Given the description of an element on the screen output the (x, y) to click on. 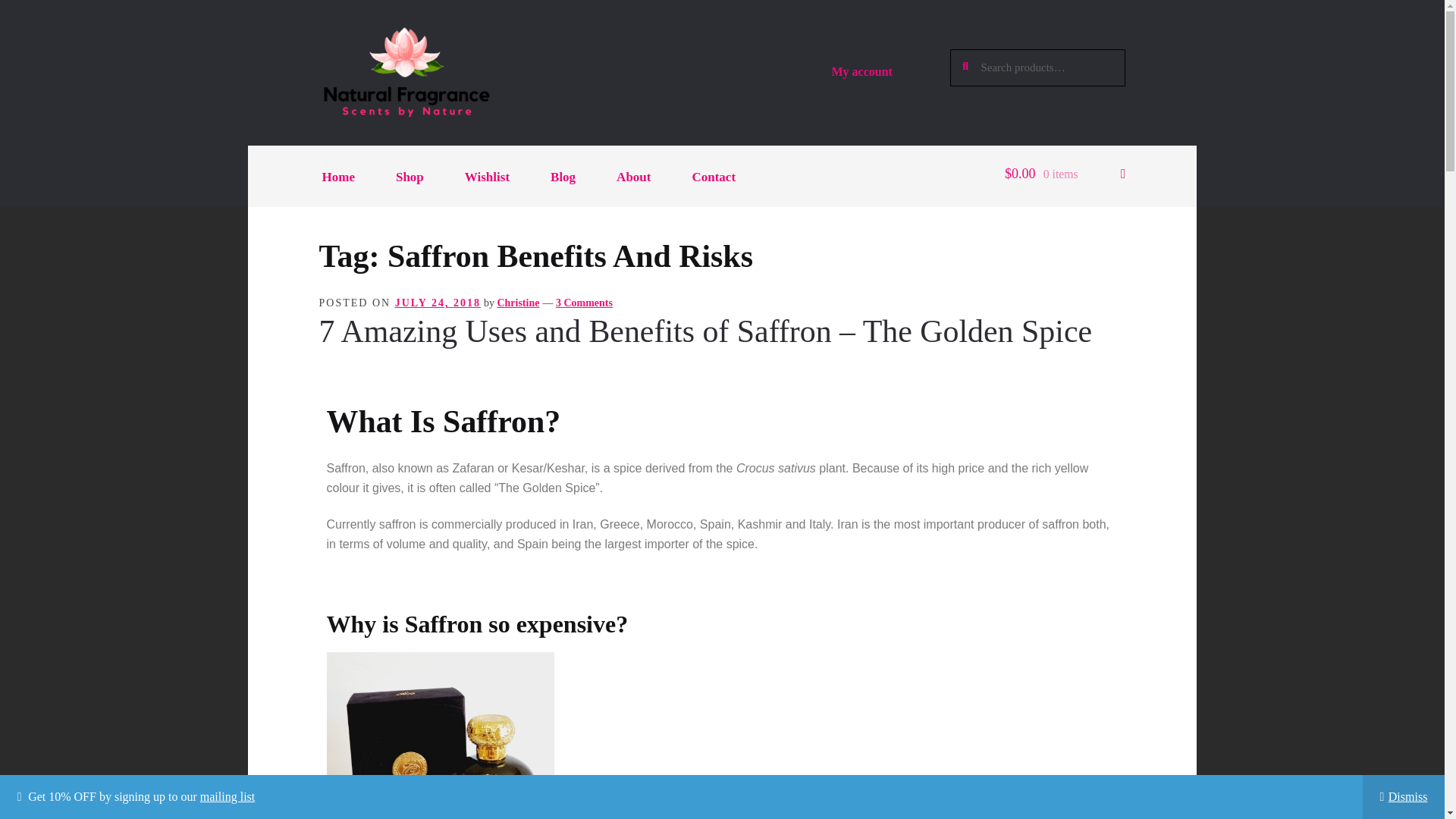
Wishlist (486, 178)
JULY 24, 2018 (437, 302)
About (633, 178)
3 Comments (584, 302)
Blog (563, 178)
View your shopping cart (1064, 178)
Shop (409, 178)
My account (861, 72)
Contact (714, 178)
